Given the description of an element on the screen output the (x, y) to click on. 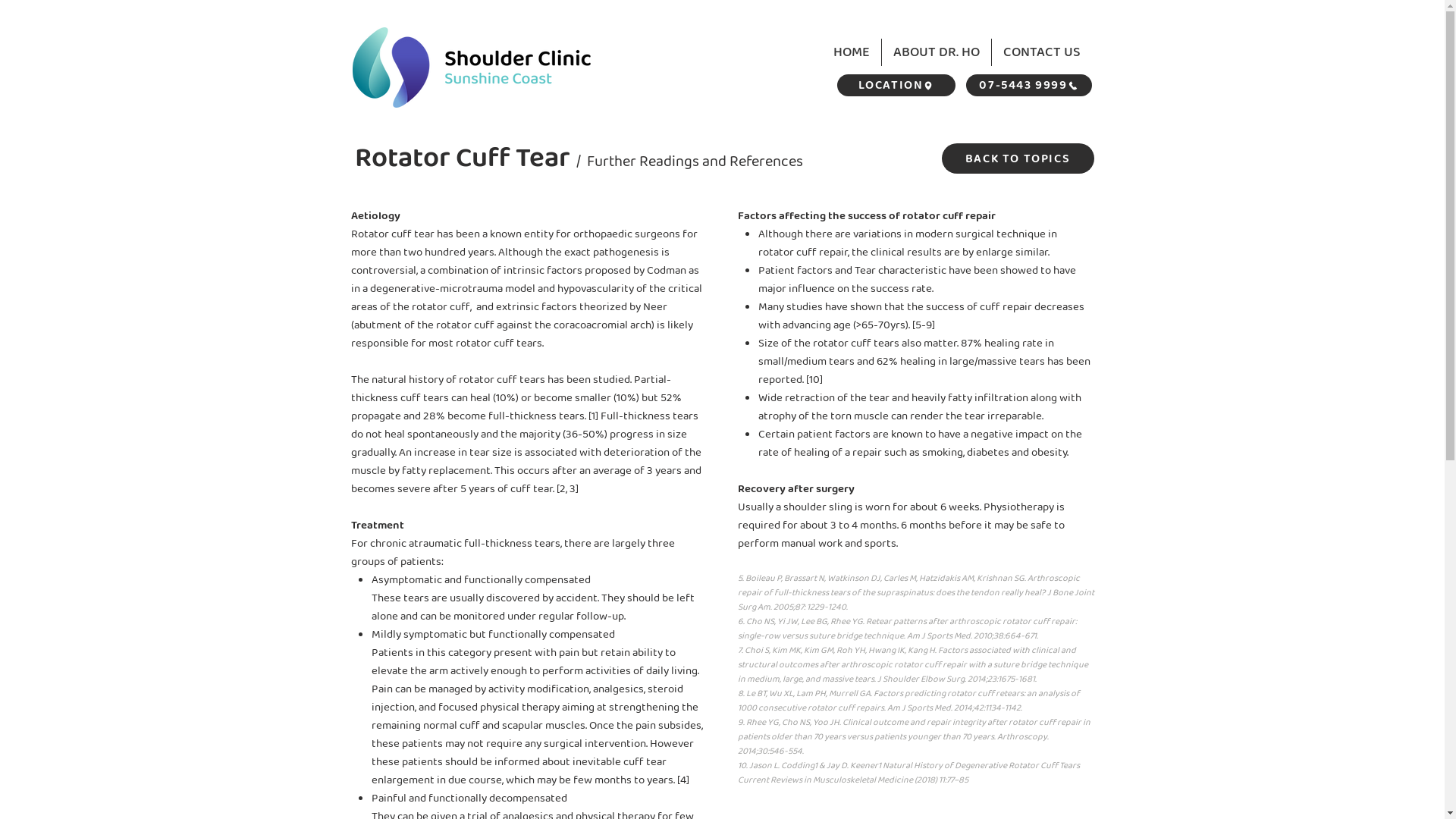
BACK TO TOPICS Element type: text (1017, 158)
CONTACT US Element type: text (1041, 51)
LOCATION Element type: text (896, 85)
ABOUT DR. HO Element type: text (935, 51)
HOME Element type: text (851, 51)
07-5443 9999 Element type: text (1029, 85)
